Given the description of an element on the screen output the (x, y) to click on. 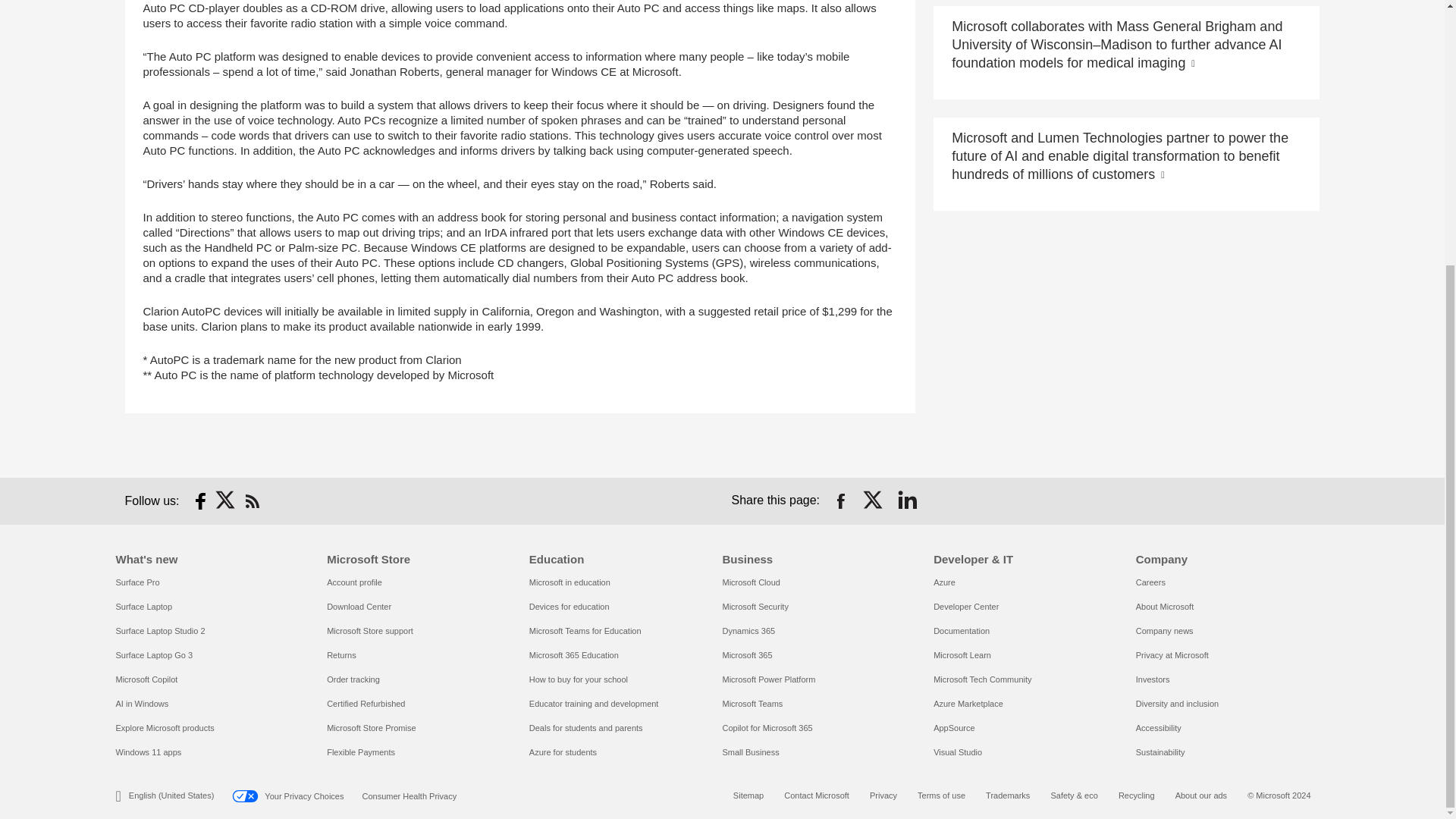
Follow on Facebook (200, 500)
RSS Subscription (252, 500)
Share on LinkedIn (907, 500)
Share on Twitter (873, 500)
Share on Facebook (840, 500)
Follow on Twitter (226, 500)
